Given the description of an element on the screen output the (x, y) to click on. 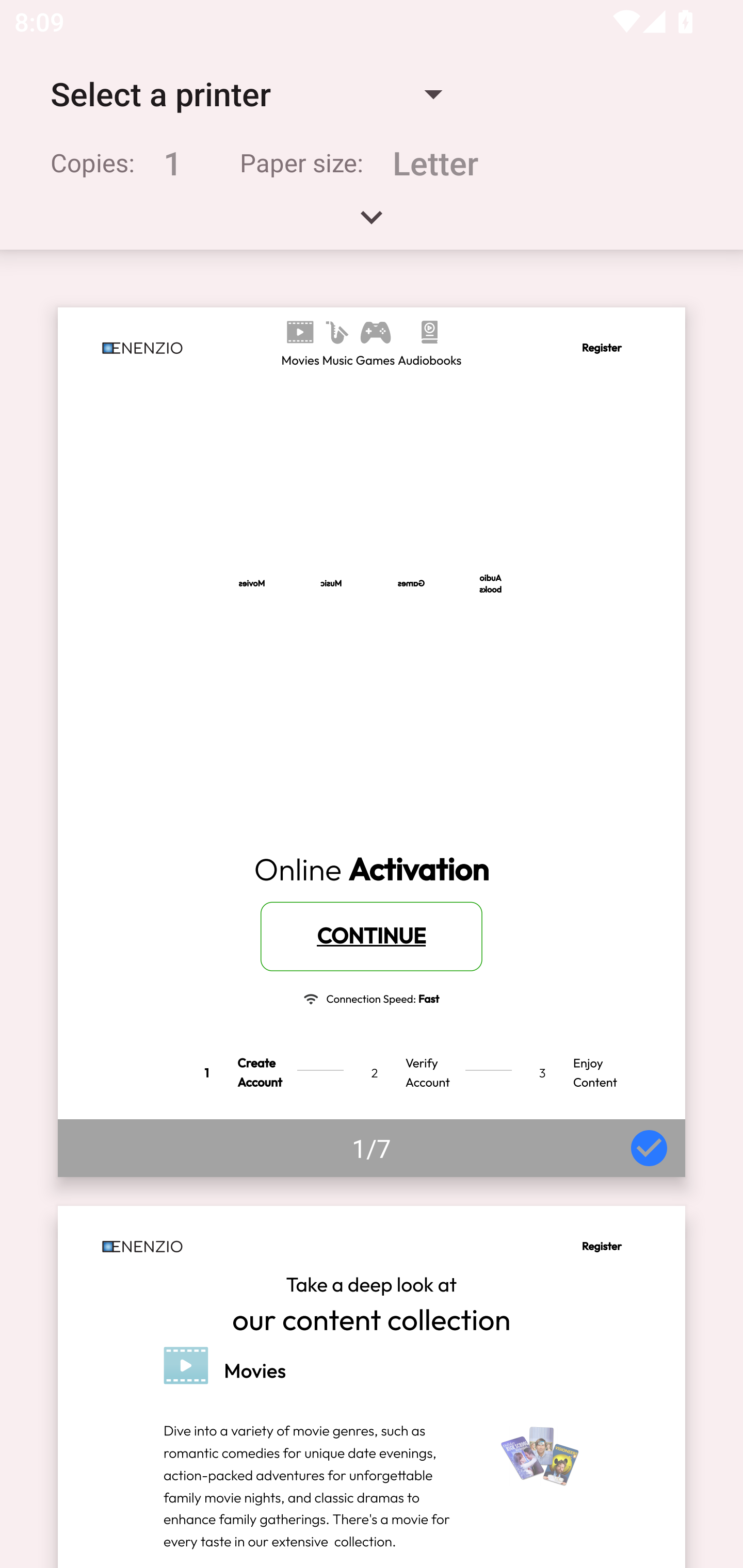
Select a printer (245, 93)
Expand handle (371, 224)
Page 1 of 7 1/7 (371, 742)
Page 2 of 7 (371, 1386)
